Given the description of an element on the screen output the (x, y) to click on. 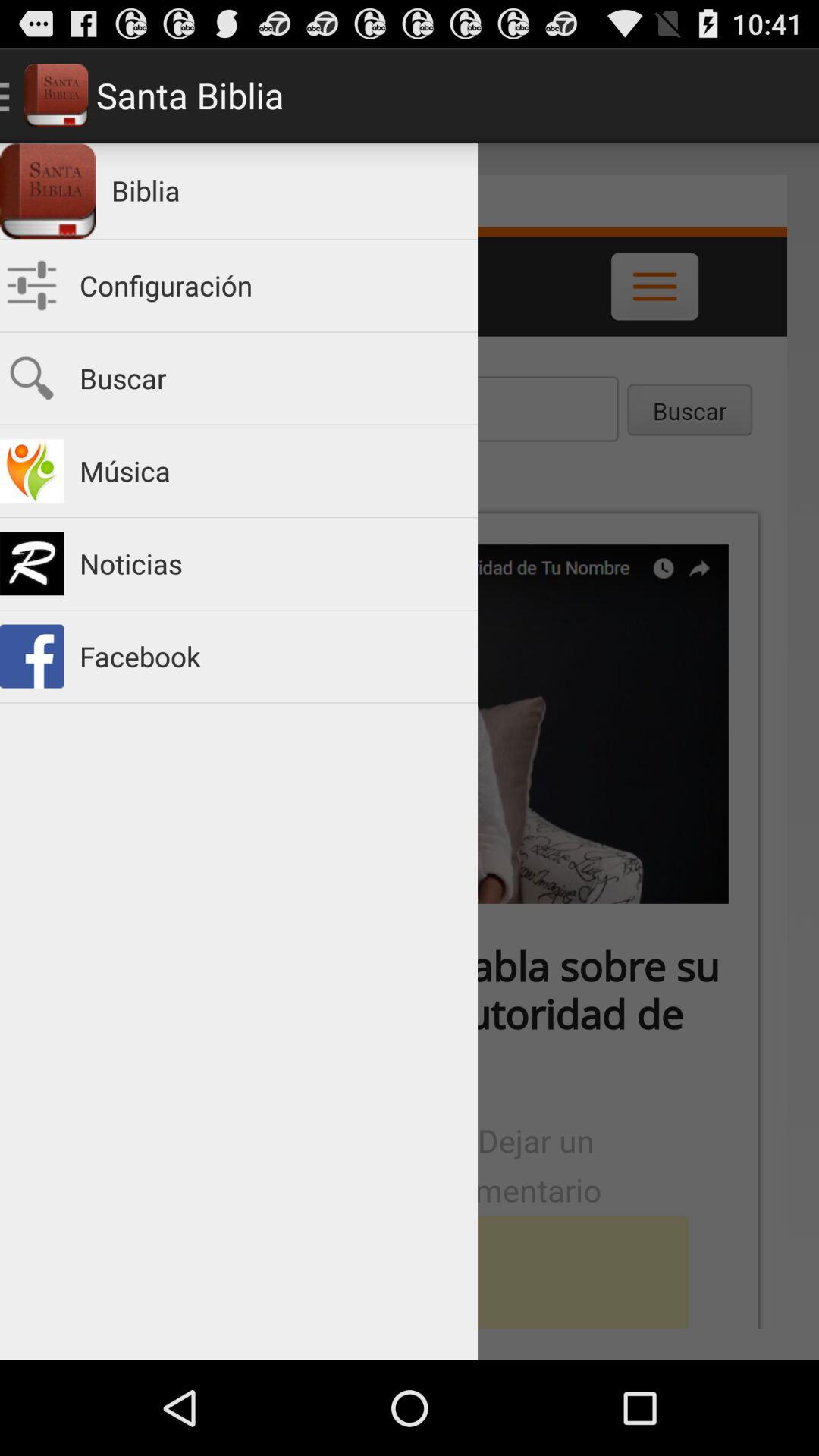
swipe until buscar item (270, 378)
